Given the description of an element on the screen output the (x, y) to click on. 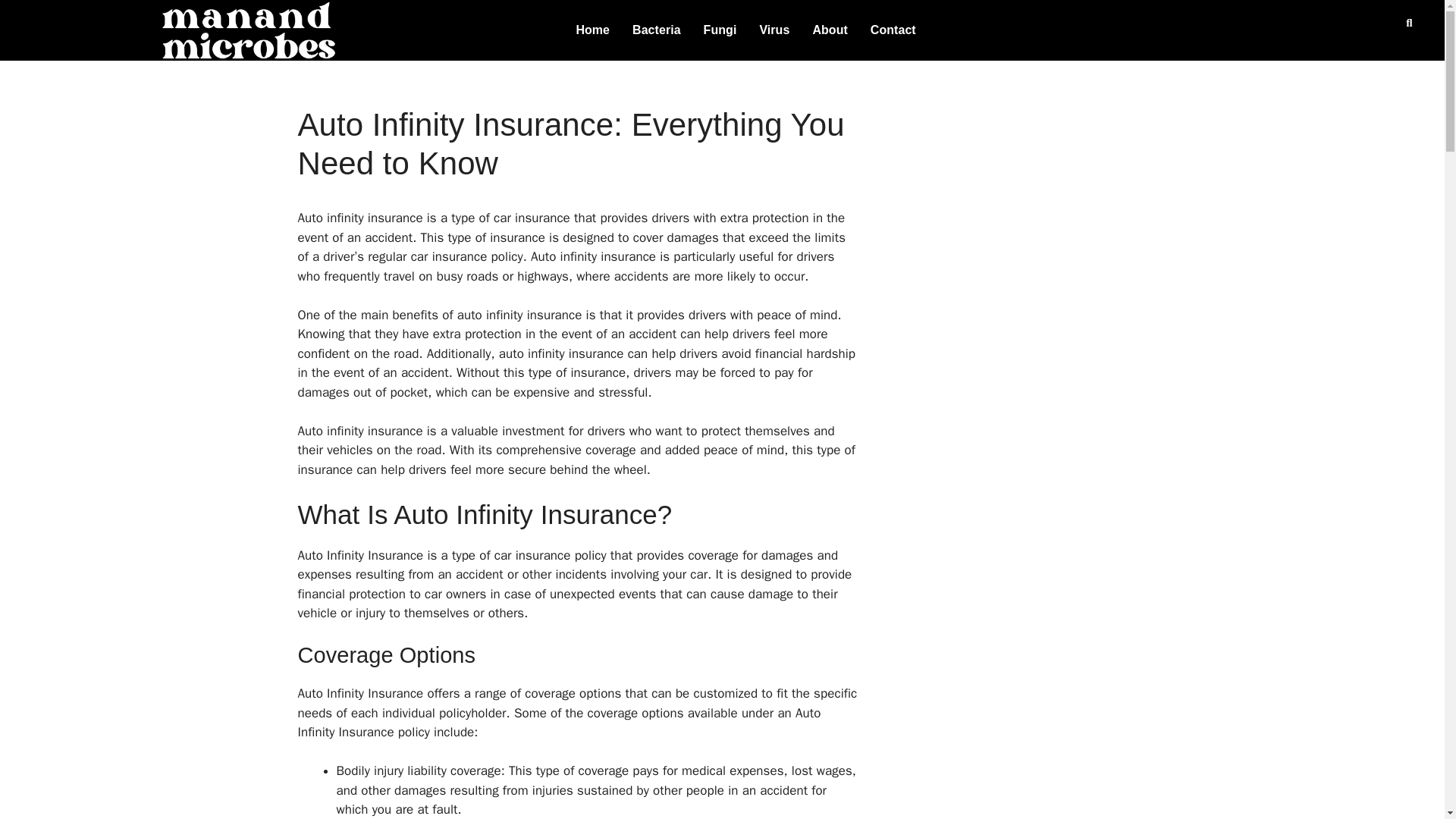
Bacteria (657, 30)
Virus (774, 30)
About (829, 30)
Fungi (720, 30)
Contact (893, 30)
Home (592, 30)
